Given the description of an element on the screen output the (x, y) to click on. 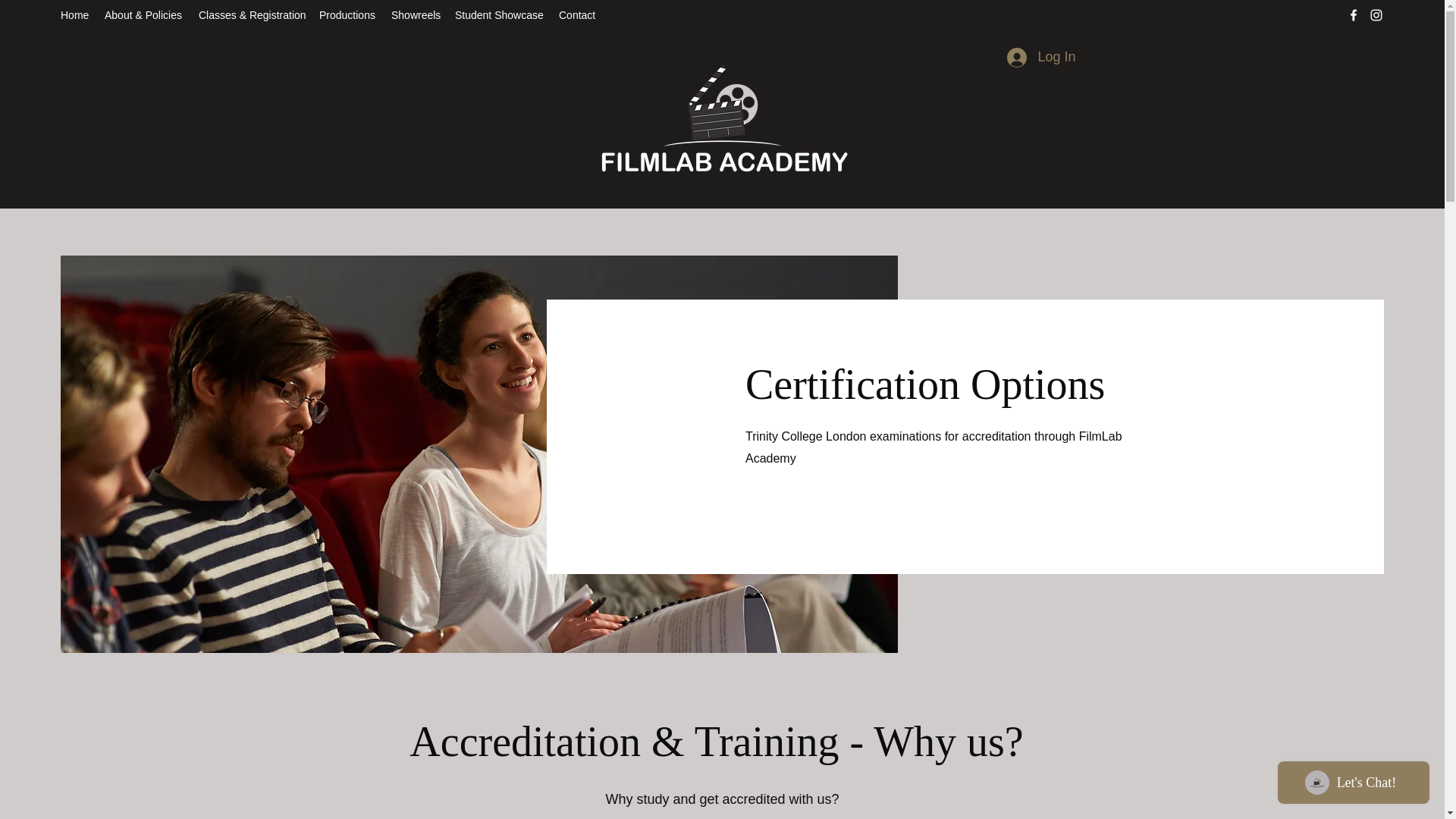
Productions (347, 15)
Showreels (415, 15)
Student Showcase (498, 15)
Contact (577, 15)
Log In (1040, 57)
Home (74, 15)
